Given the description of an element on the screen output the (x, y) to click on. 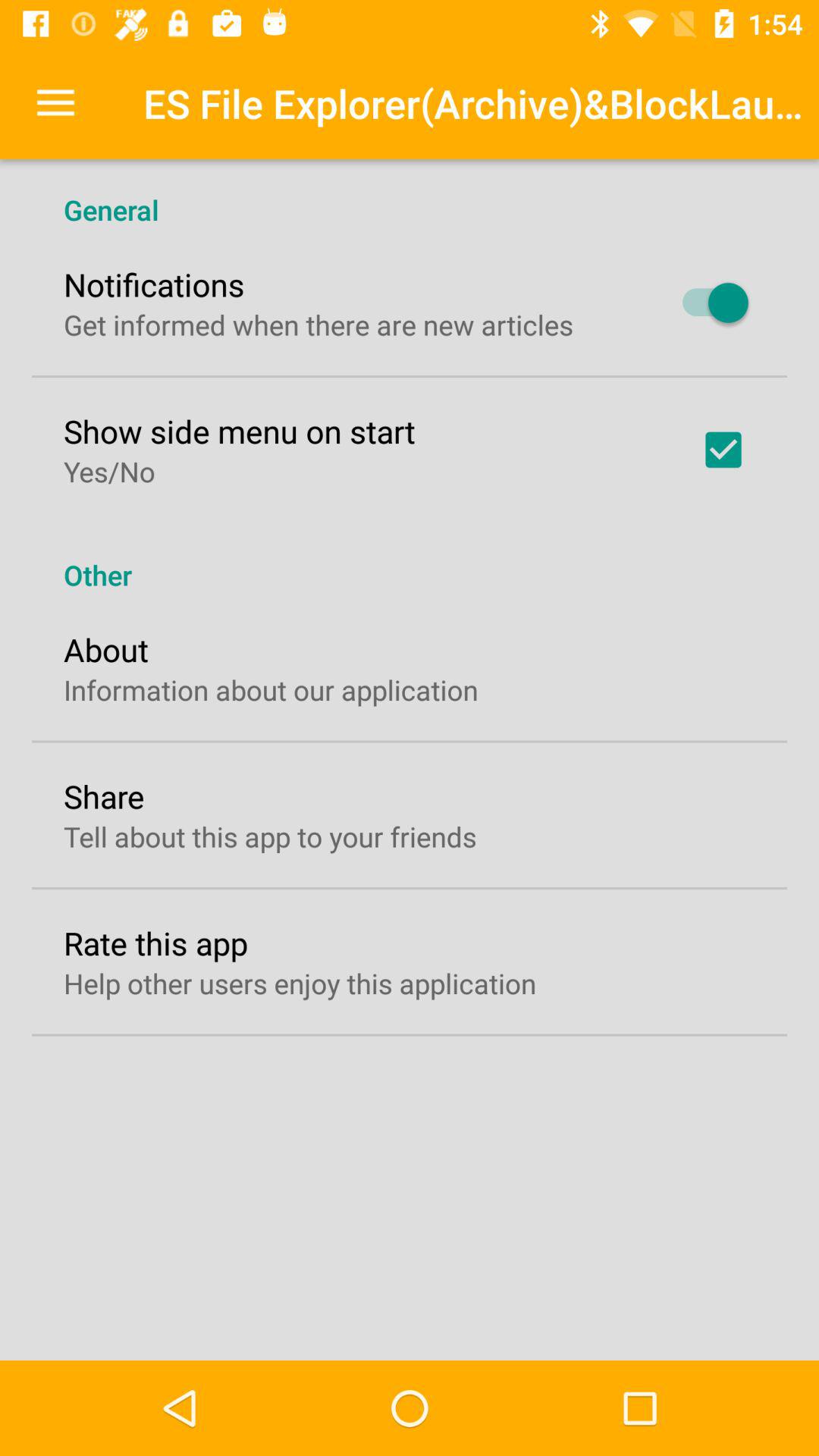
swipe until the information about our item (270, 689)
